Given the description of an element on the screen output the (x, y) to click on. 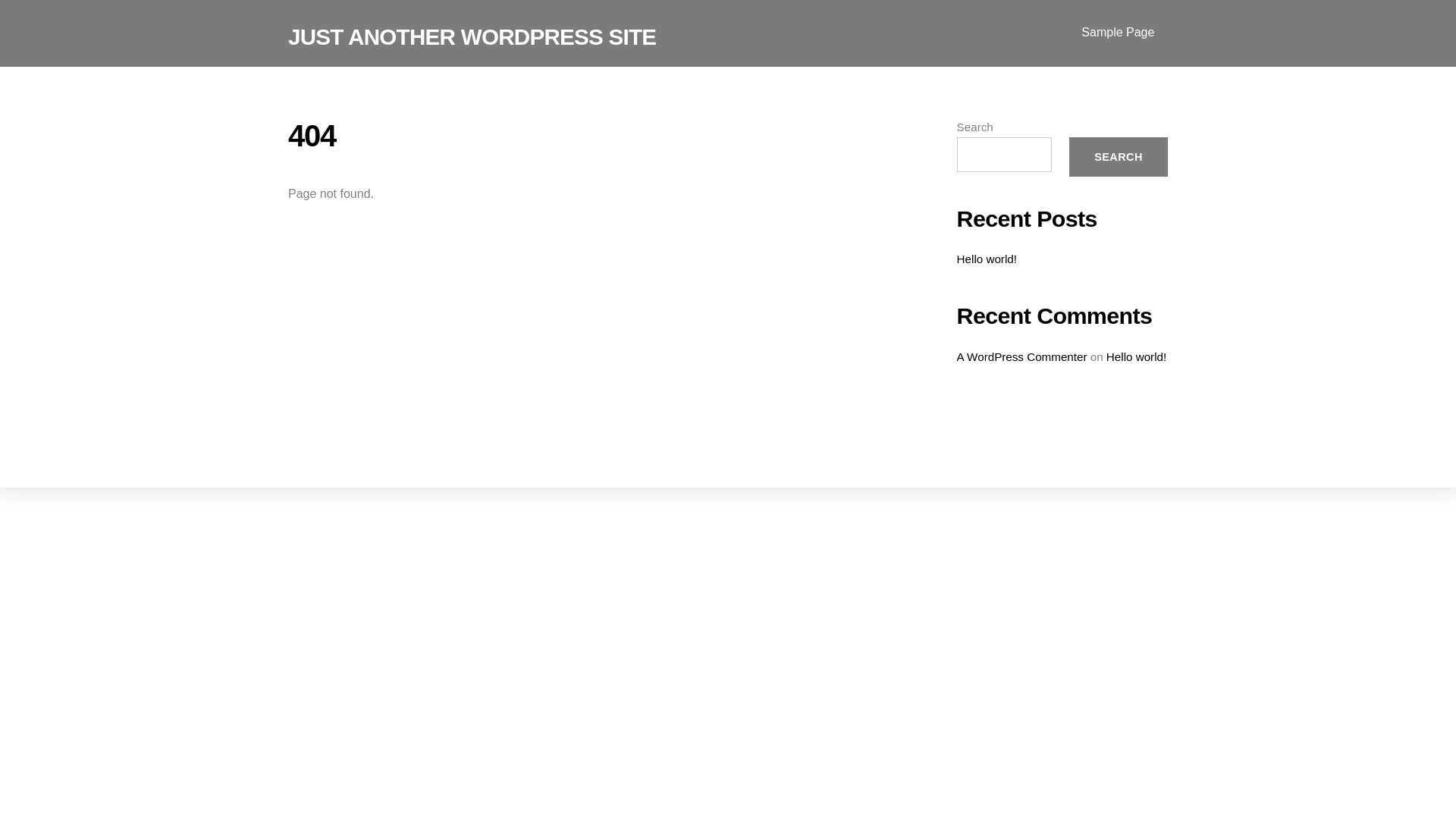
SEARCH Element type: text (1118, 156)
Sample Page Element type: text (1117, 32)
JUST ANOTHER WORDPRESS SITE Element type: text (471, 36)
A WordPress Commenter Element type: text (1022, 356)
Hello world! Element type: text (1136, 356)
Hello world! Element type: text (986, 258)
